Given the description of an element on the screen output the (x, y) to click on. 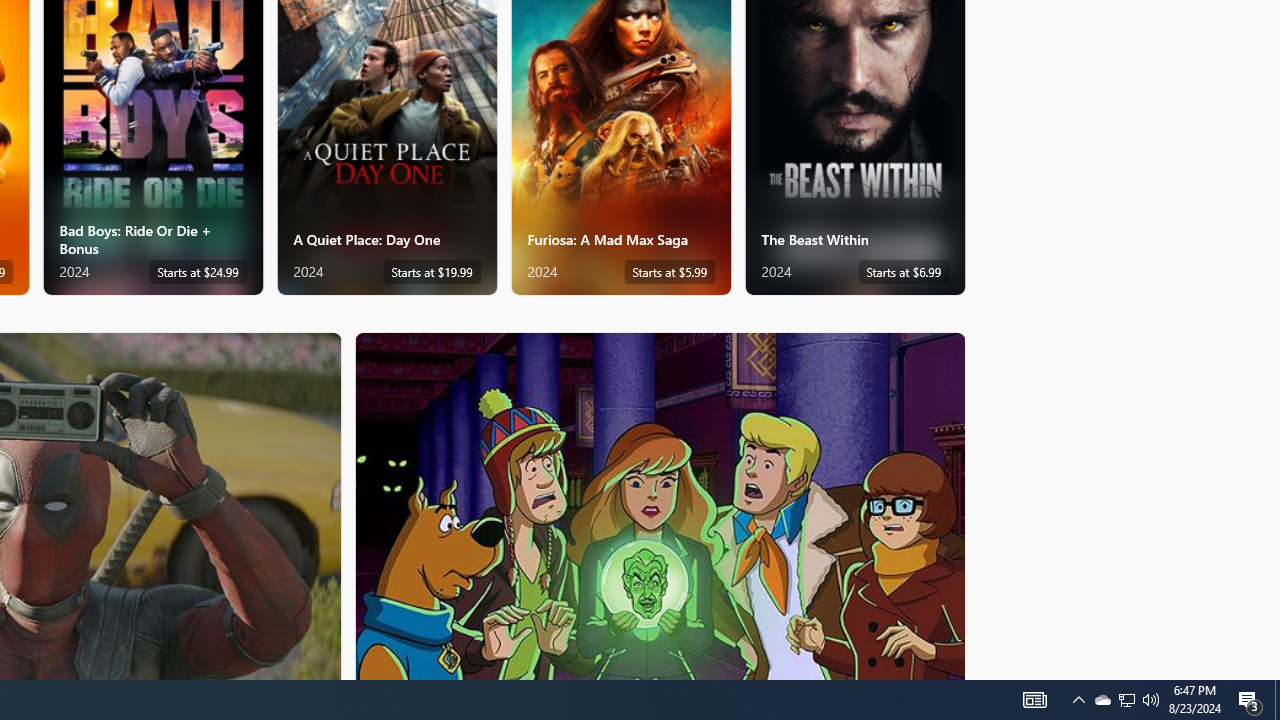
Family (660, 505)
AutomationID: PosterImage (658, 505)
